Given the description of an element on the screen output the (x, y) to click on. 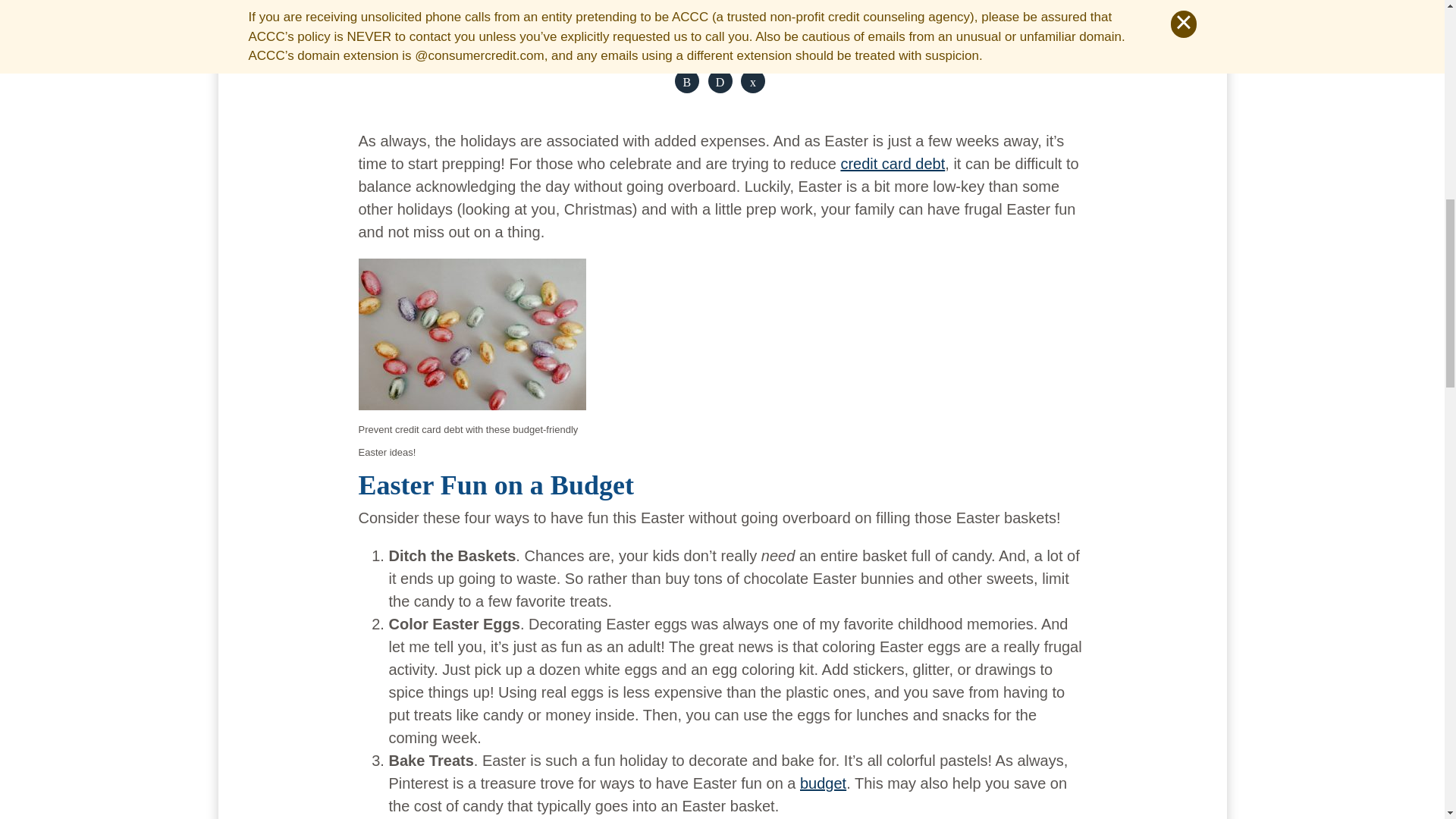
credit card debt (892, 163)
budget (822, 782)
